Given the description of an element on the screen output the (x, y) to click on. 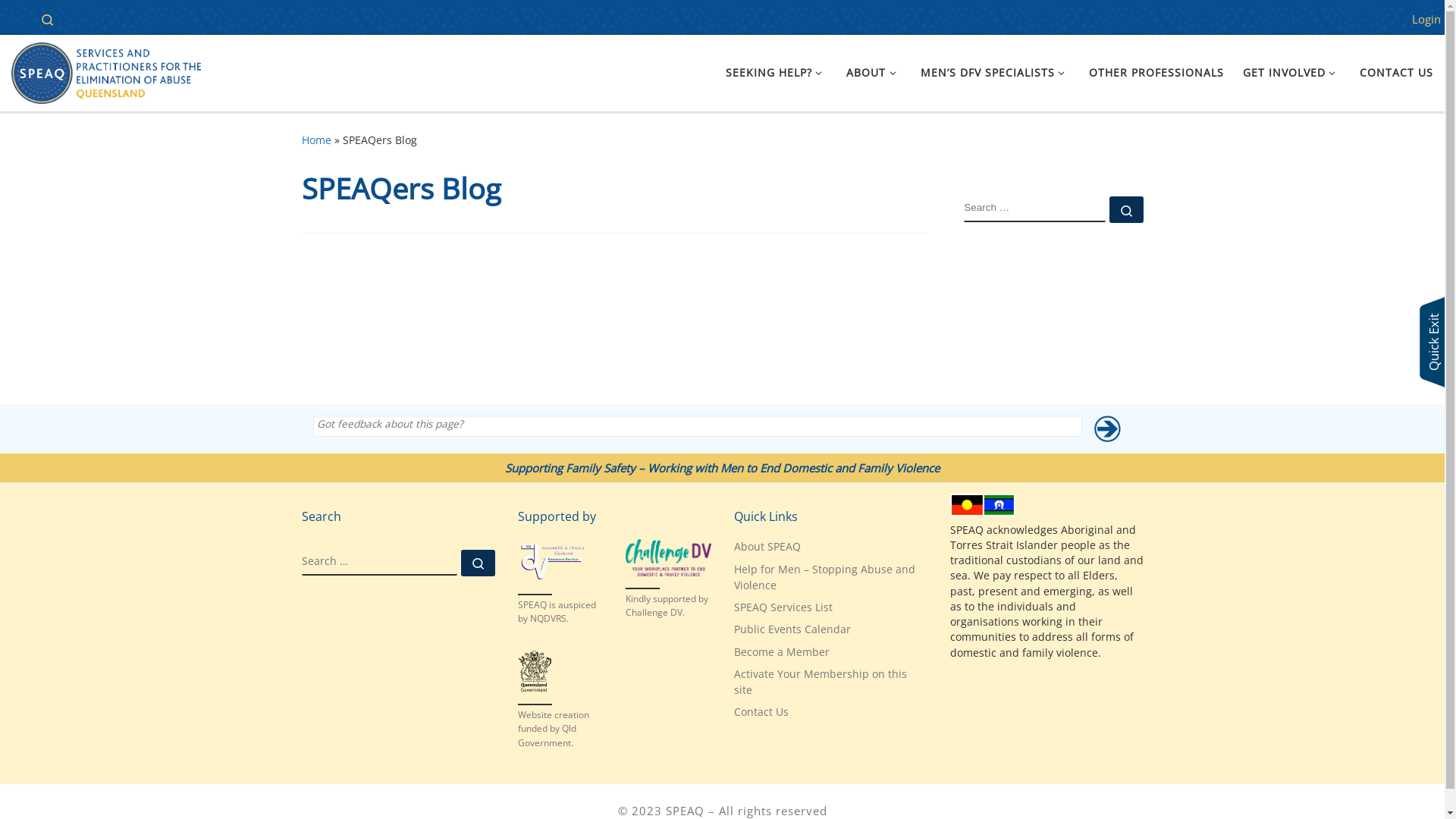
Login Element type: text (1426, 19)
OTHER PROFESSIONALS Element type: text (1156, 72)
CONTACT US Element type: text (1396, 72)
ABOUT Element type: text (873, 72)
Public Events Calendar Element type: text (792, 629)
SPEAQ Services List Element type: text (783, 607)
Contact Us Element type: text (761, 712)
SEEKING HELP? Element type: text (776, 72)
Activate Your Membership on this site Element type: text (830, 682)
About SPEAQ Element type: text (767, 547)
Home Element type: text (14, 19)
Skip to content Element type: text (59, 21)
GET INVOLVED Element type: text (1291, 72)
Become a Member Element type: text (781, 652)
SPEAQ Element type: text (684, 810)
Search Element type: text (47, 18)
Home Element type: text (316, 140)
